Given the description of an element on the screen output the (x, y) to click on. 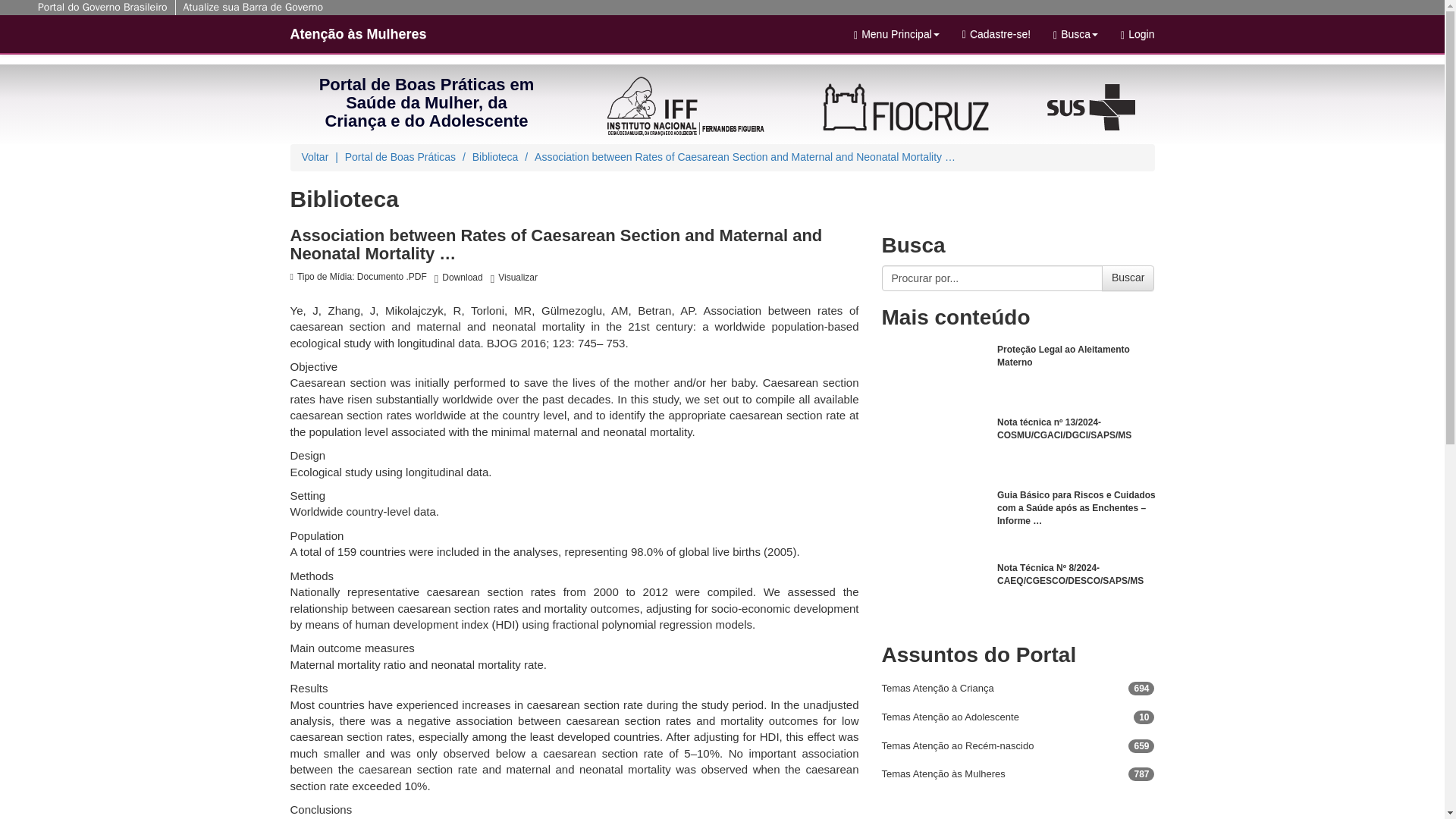
Busca (1075, 34)
Portal do Governo Brasileiro (102, 6)
Visualize o documento (513, 277)
Biblioteca (494, 156)
Atualize sua Barra de Governo (253, 6)
Cadastre-se! (996, 34)
Visualizar (513, 277)
Voltar (315, 156)
Menu Principal (896, 34)
Login (1137, 34)
